Given the description of an element on the screen output the (x, y) to click on. 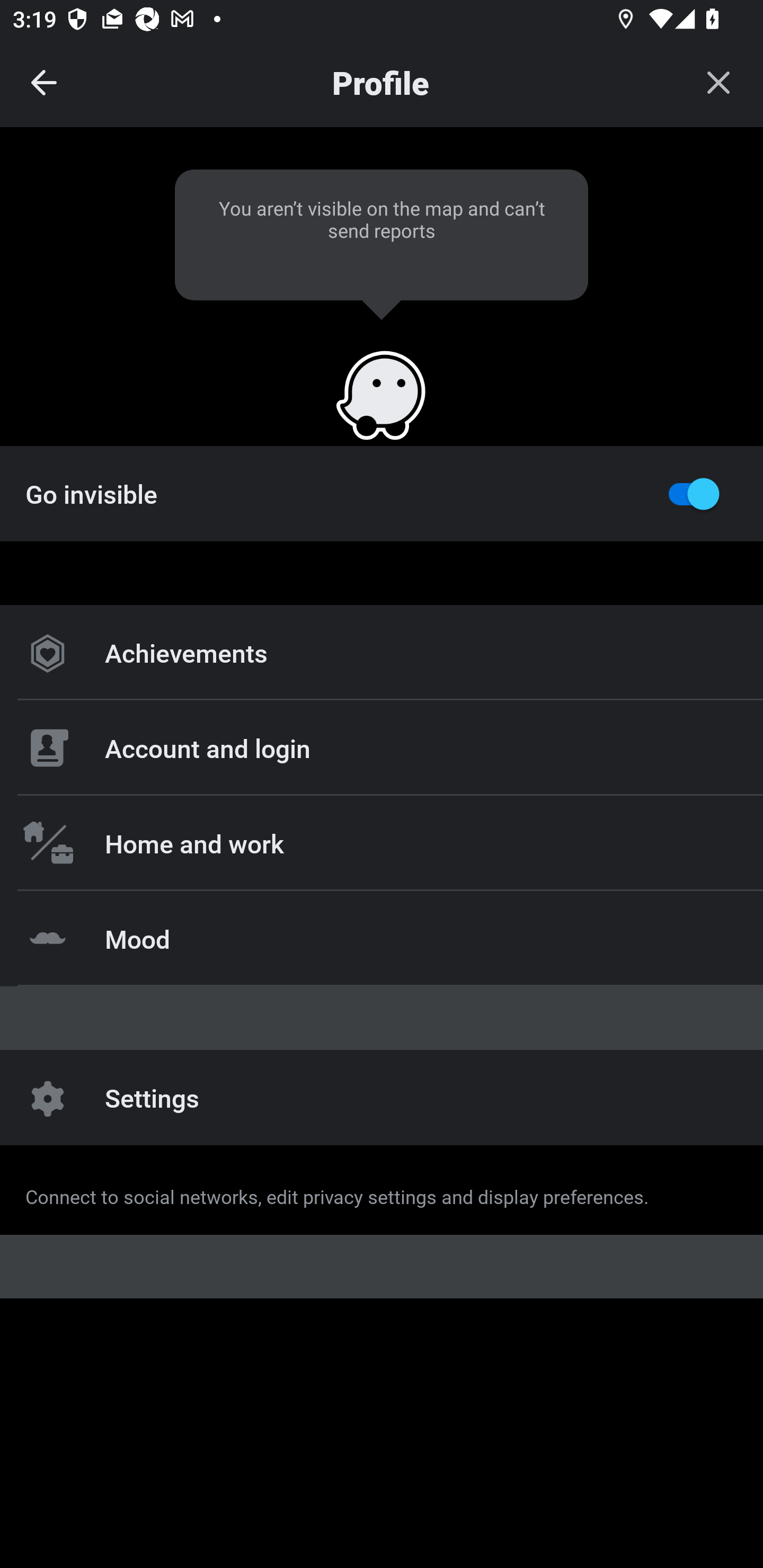
Go invisible (381, 492)
Achievements (381, 652)
Account and login (381, 747)
Home and work (381, 842)
Mood (381, 938)
Settings (381, 1097)
